Given the description of an element on the screen output the (x, y) to click on. 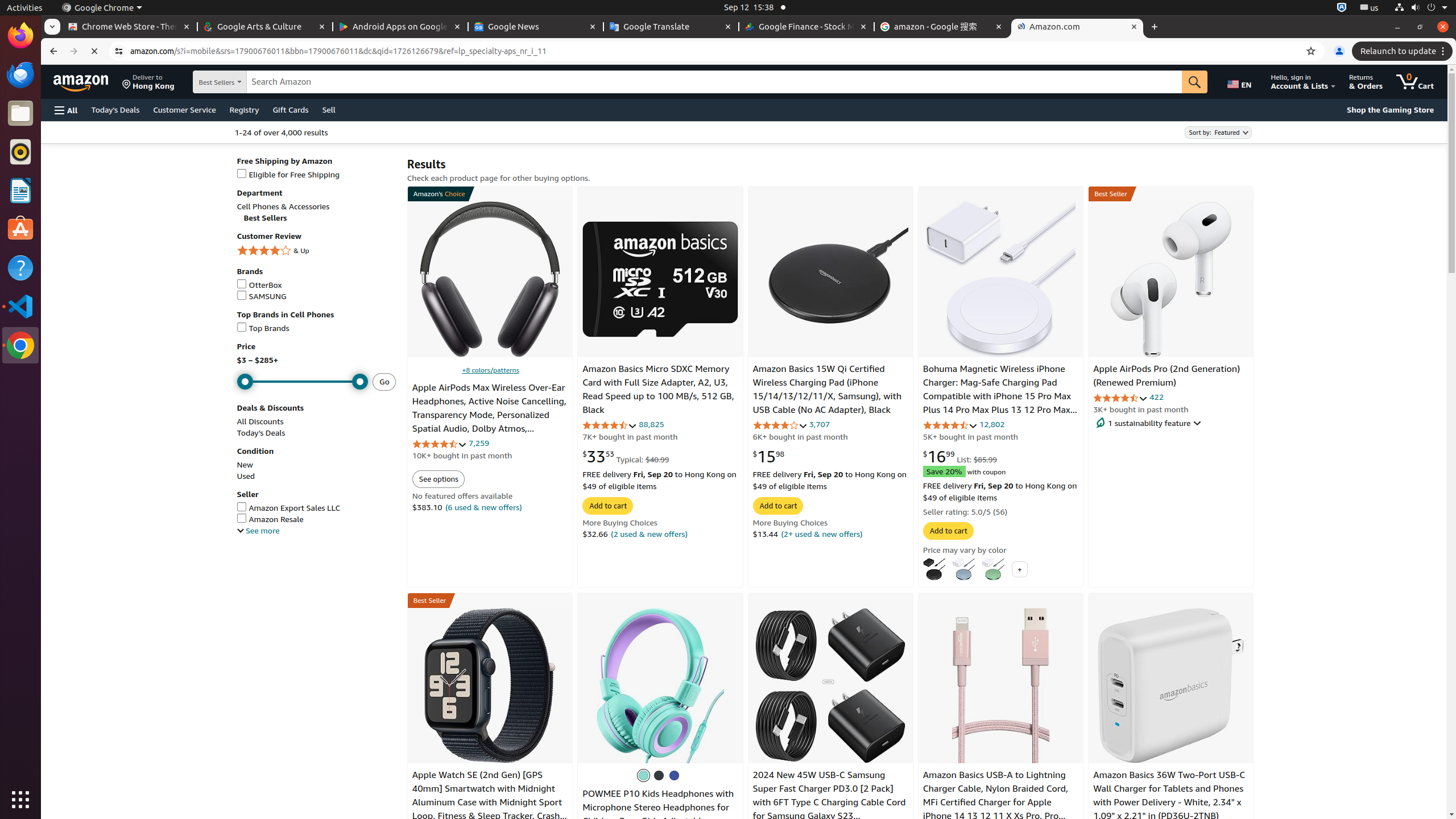
4.2 out of 5 stars Element type: push-button (779, 425)
Maximum Element type: slider (302, 381)
Shop the Gaming Store Element type: link (1389, 109)
Apple Watch SE (2nd Gen) [GPS 40mm] Smartwatch with Midnight Aluminum Case with Midnight Sport Loop. Fitness & Sleep Track... Element type: link (489, 685)
Registry Element type: link (244, 109)
